Given the description of an element on the screen output the (x, y) to click on. 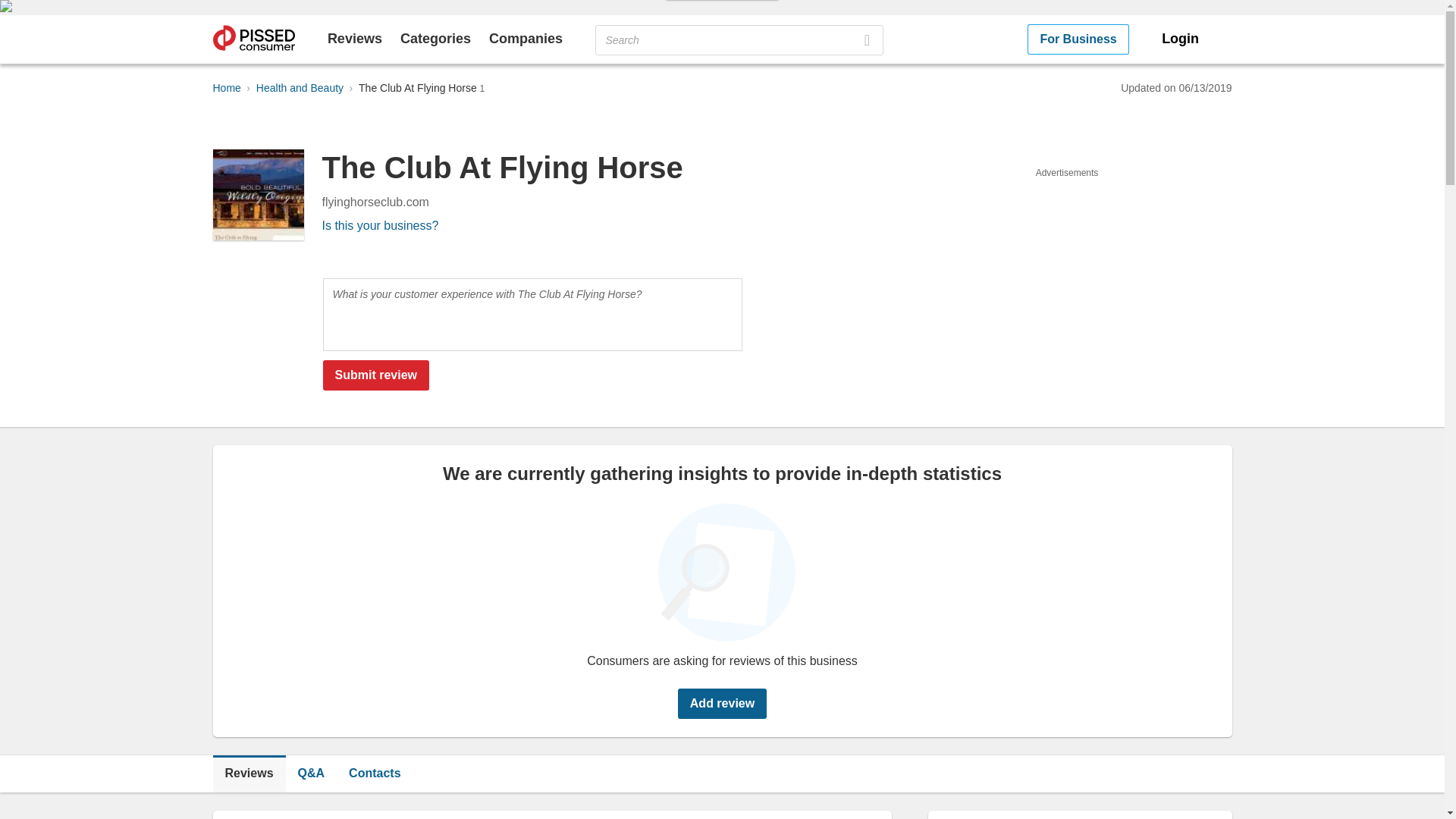
Contacts (374, 773)
For Business (1077, 39)
PissedConsumer (253, 39)
Submit review (376, 375)
Health and Beauty (299, 87)
Reviews (248, 773)
Companies (525, 38)
The Club At Flying Horse reviews (248, 773)
Reviews (354, 38)
Categories (435, 38)
